Given the description of an element on the screen output the (x, y) to click on. 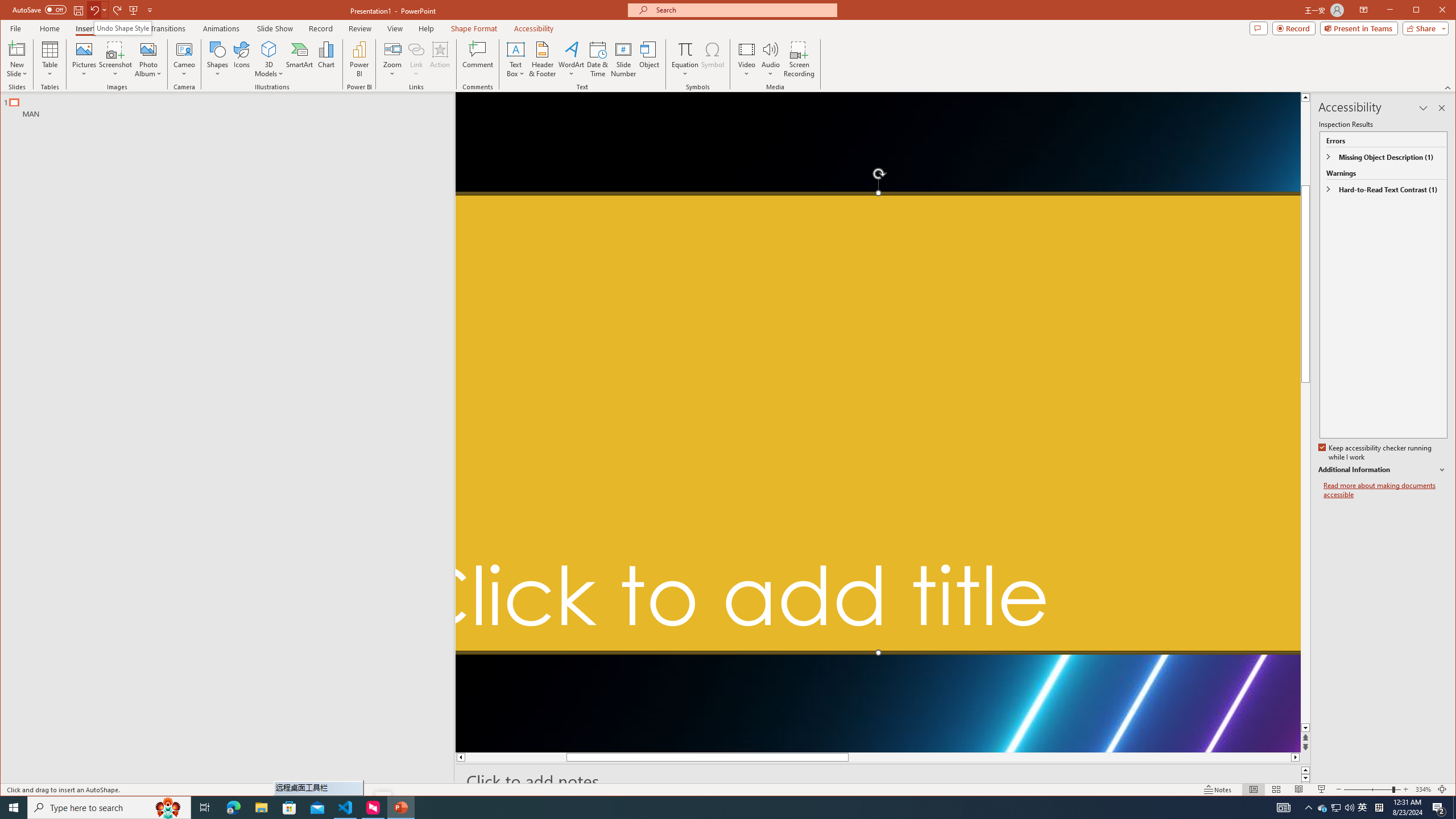
Present in Teams (1358, 28)
Zoom Out (1367, 789)
Share (1422, 27)
Insert (85, 28)
Home (49, 28)
Slide Number (623, 59)
Audio (770, 59)
Tray Input Indicator - Chinese (Simplified, China) (1378, 807)
Equation (685, 59)
Cameo (183, 48)
Action (440, 59)
Slide Sorter (1276, 789)
Outline (231, 104)
